Given the description of an element on the screen output the (x, y) to click on. 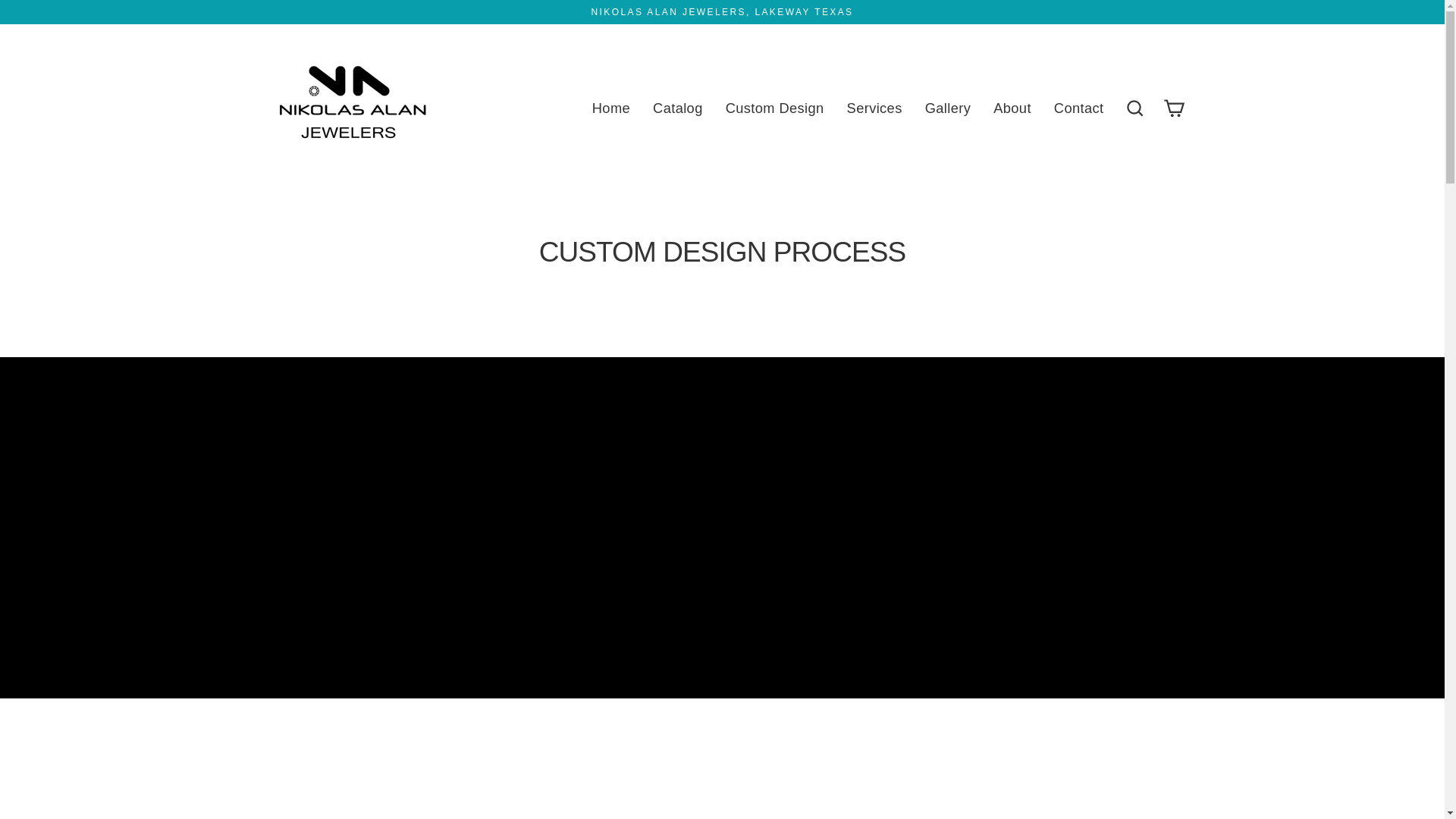
Home (611, 108)
Catalog (678, 108)
